Given the description of an element on the screen output the (x, y) to click on. 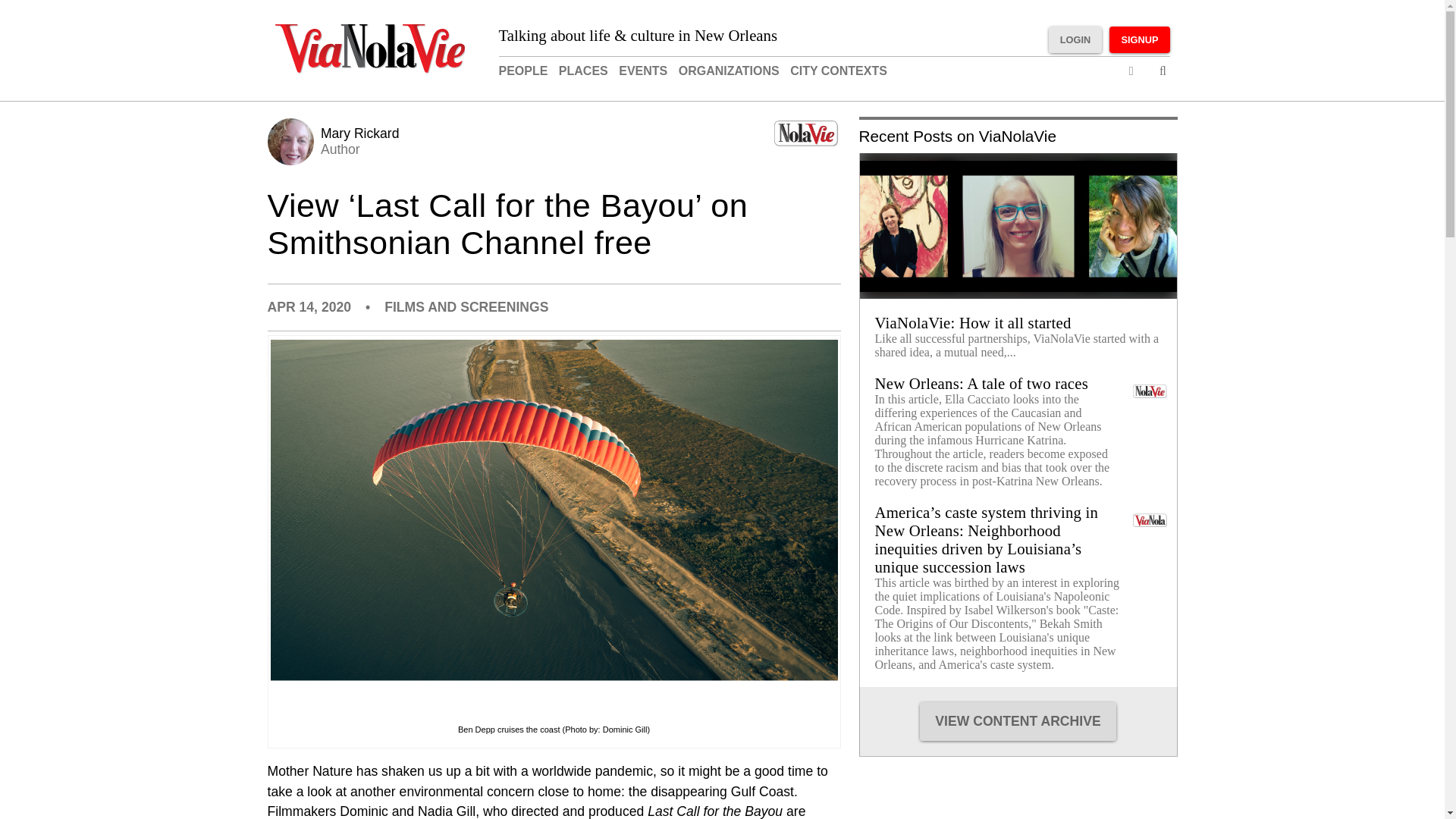
CITY CONTEXTS (838, 70)
PLACES (583, 70)
EVENTS (642, 70)
ORGANIZATIONS (728, 70)
PEOPLE (523, 70)
LOGIN (1075, 39)
VIEW CONTENT ARCHIVE (339, 141)
